Given the description of an element on the screen output the (x, y) to click on. 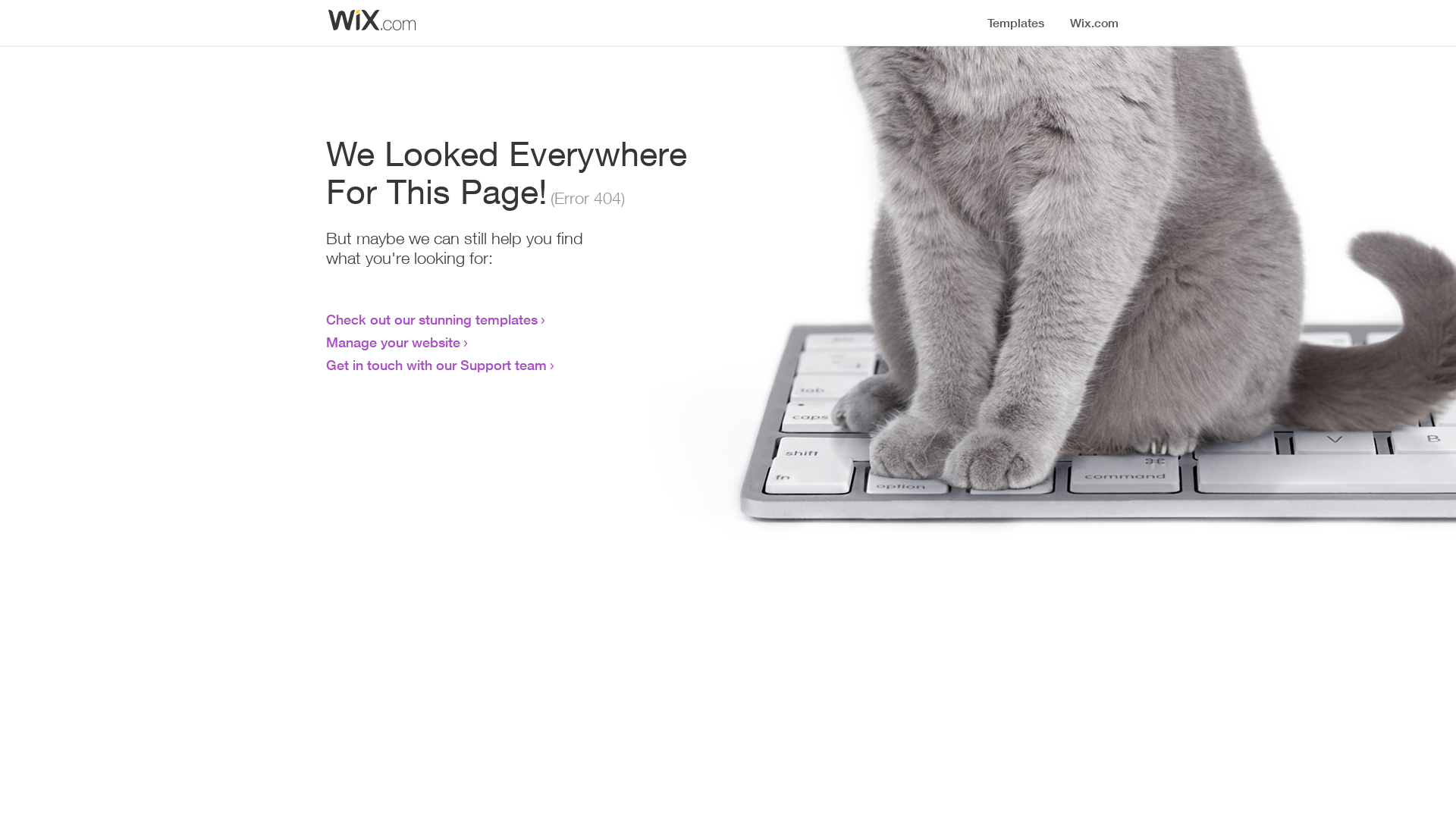
Get in touch with our Support team Element type: text (436, 364)
Manage your website Element type: text (393, 341)
Check out our stunning templates Element type: text (431, 318)
